Given the description of an element on the screen output the (x, y) to click on. 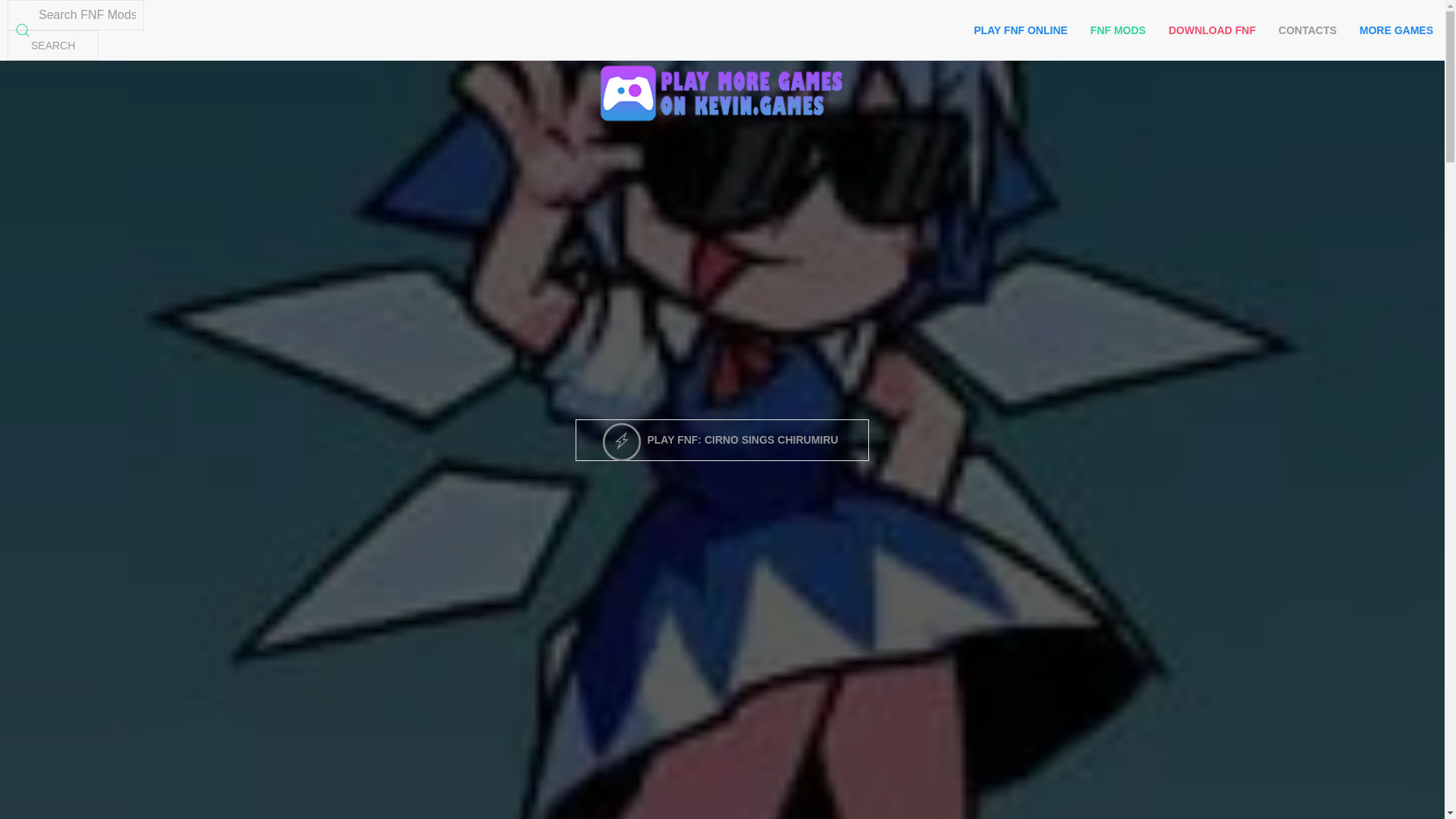
SEARCH (53, 45)
PLAY FNF: CIRNO SINGS CHIRUMIRU (722, 439)
DOWNLOAD FNF (1211, 30)
FNF MODS (1117, 30)
PLAY FNF ONLINE (1020, 30)
CONTACTS (1307, 30)
